Given the description of an element on the screen output the (x, y) to click on. 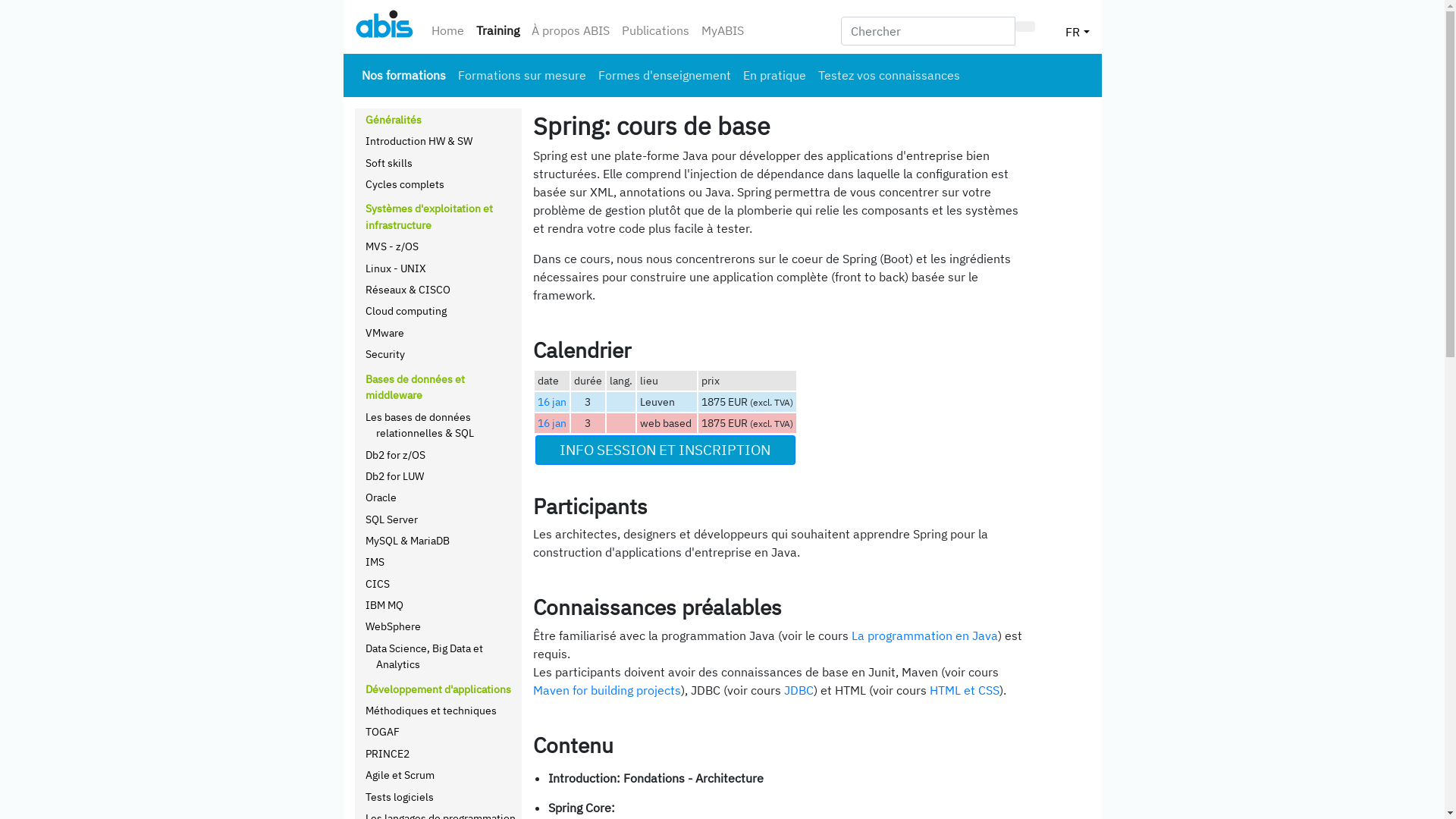
INFO SESSION ET INSCRIPTION Element type: text (665, 449)
Maven for building projects Element type: text (606, 689)
SQL Server Element type: text (391, 518)
Formes d'enseignement Element type: text (663, 74)
En pratique Element type: text (774, 74)
16 jan Element type: text (550, 422)
MyABIS Element type: text (721, 30)
Db2 for z/OS Element type: text (395, 454)
IBM MQ Element type: text (384, 604)
Linux - UNIX Element type: text (395, 267)
La programmation en Java Element type: text (923, 635)
IMS Element type: text (374, 561)
16 jan Element type: text (550, 401)
Publications Element type: text (655, 30)
Soft skills Element type: text (388, 162)
Oracle Element type: text (380, 496)
Training
(courant) Element type: text (497, 30)
HTML et CSS Element type: text (964, 689)
WebSphere Element type: text (392, 625)
Formations sur mesure Element type: text (521, 74)
Home Element type: text (446, 30)
CICS Element type: text (377, 583)
Cloud computing Element type: text (405, 310)
Tests logiciels Element type: text (399, 795)
Cycles complets Element type: text (404, 183)
Testez vos connaissances Element type: text (888, 74)
FR Element type: text (1076, 27)
Security Element type: text (384, 353)
Db2 for LUW Element type: text (394, 475)
Agile et Scrum Element type: text (399, 774)
MySQL & MariaDB Element type: text (407, 540)
Introduction HW & SW Element type: text (418, 140)
VMware Element type: text (384, 332)
TOGAF Element type: text (382, 731)
Nos formations
(courant) Element type: text (402, 74)
JDBC Element type: text (798, 689)
Data Science, Big Data et Analytics Element type: text (424, 655)
MVS - z/OS Element type: text (391, 245)
PRINCE2 Element type: text (387, 753)
